Given the description of an element on the screen output the (x, y) to click on. 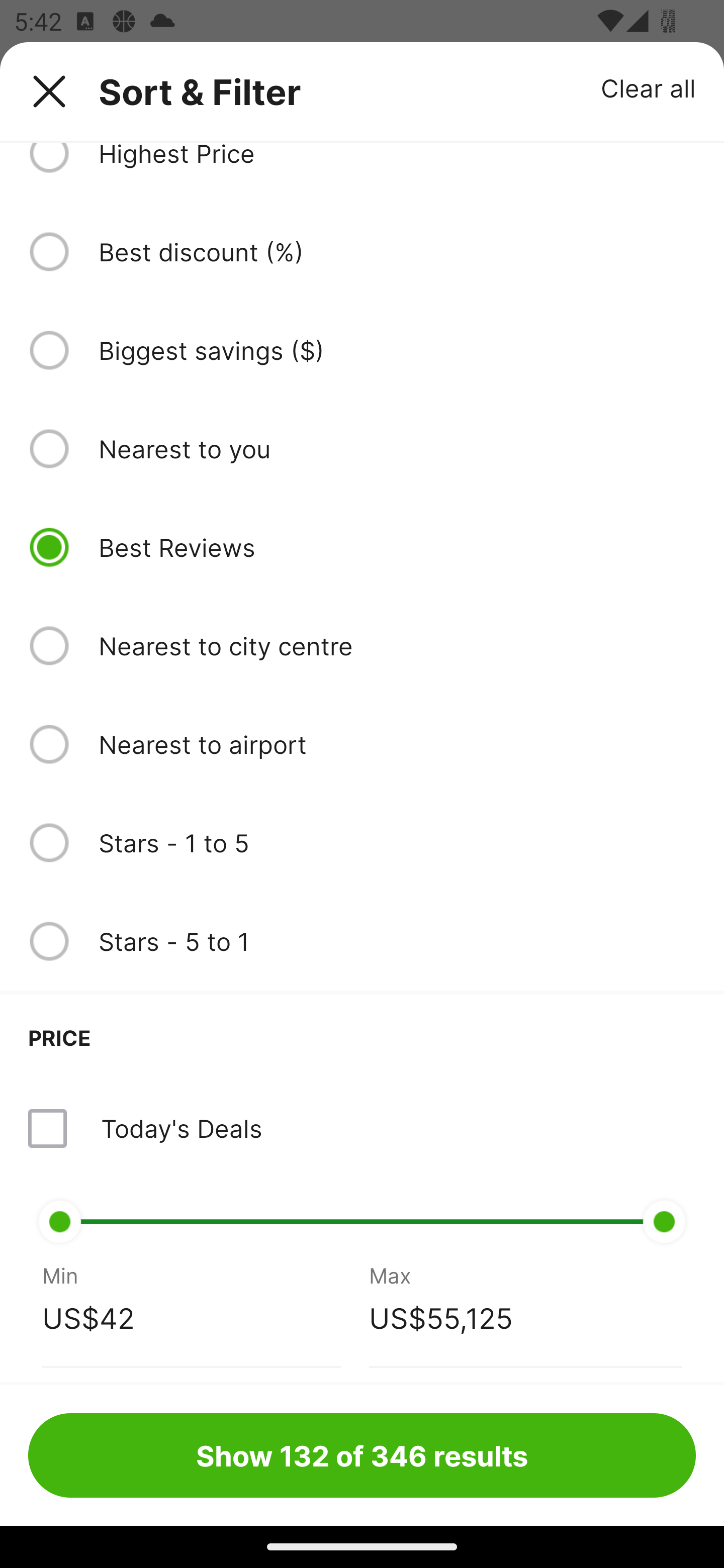
Clear all (648, 87)
Highest Price (396, 156)
Best discount (%) (396, 251)
Biggest savings ($) (396, 350)
Nearest to you (396, 448)
Best Reviews (396, 546)
Nearest to city centre (396, 645)
Nearest to airport (396, 743)
Stars - 1 to 5 (396, 842)
Stars - 5 to 1 (396, 941)
Today's Deals (362, 1128)
Today's Deals (181, 1128)
Show 132 of 346 results (361, 1454)
